Given the description of an element on the screen output the (x, y) to click on. 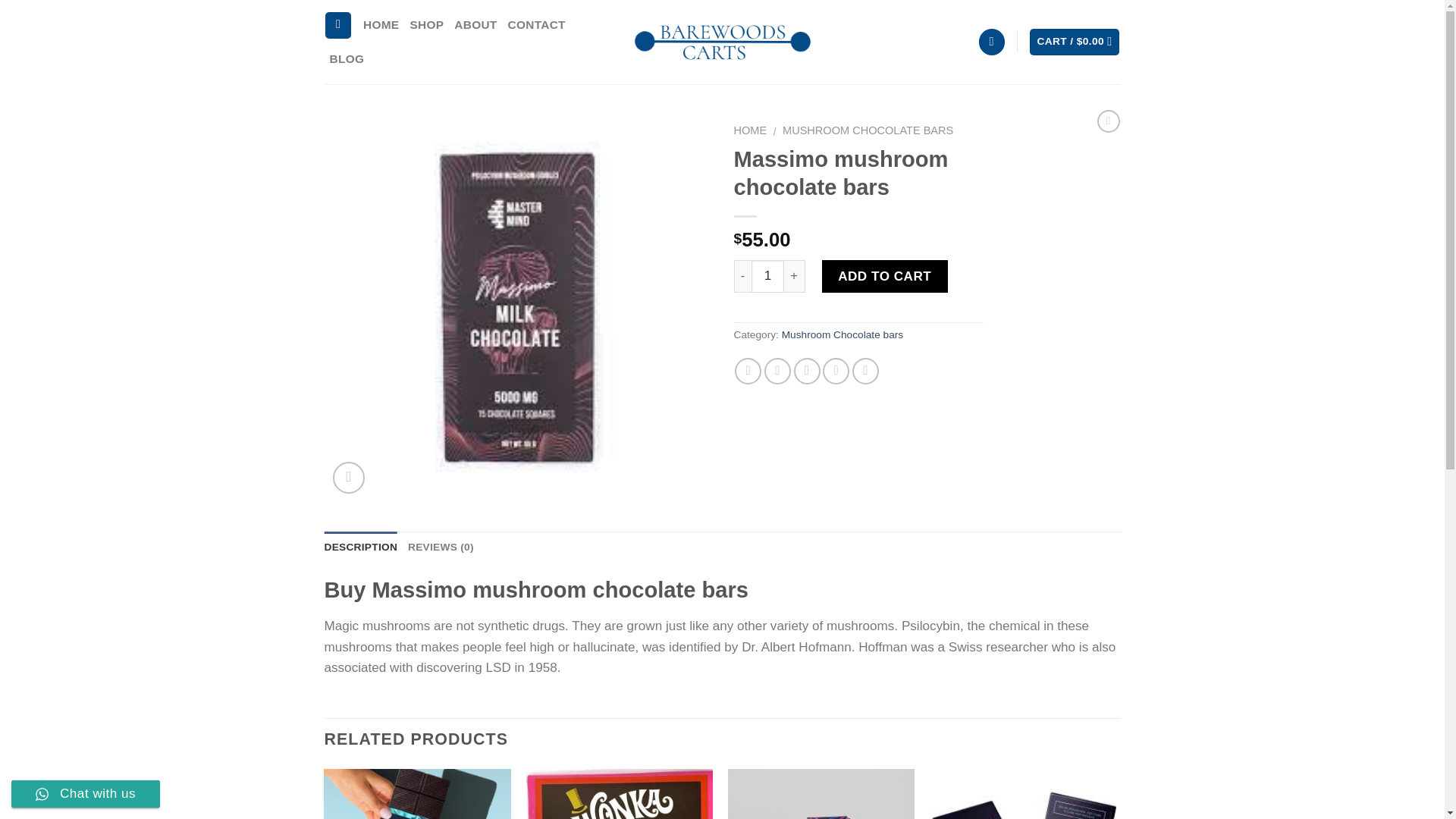
BLOG (346, 59)
MUSHROOM CHOCOLATE BARS (868, 130)
Qty (767, 276)
1 (767, 276)
ADD TO CART (884, 276)
ABOUT (475, 25)
SHOP (426, 25)
Mushroom Chocolate bars (842, 334)
Cart (1074, 41)
